Given the description of an element on the screen output the (x, y) to click on. 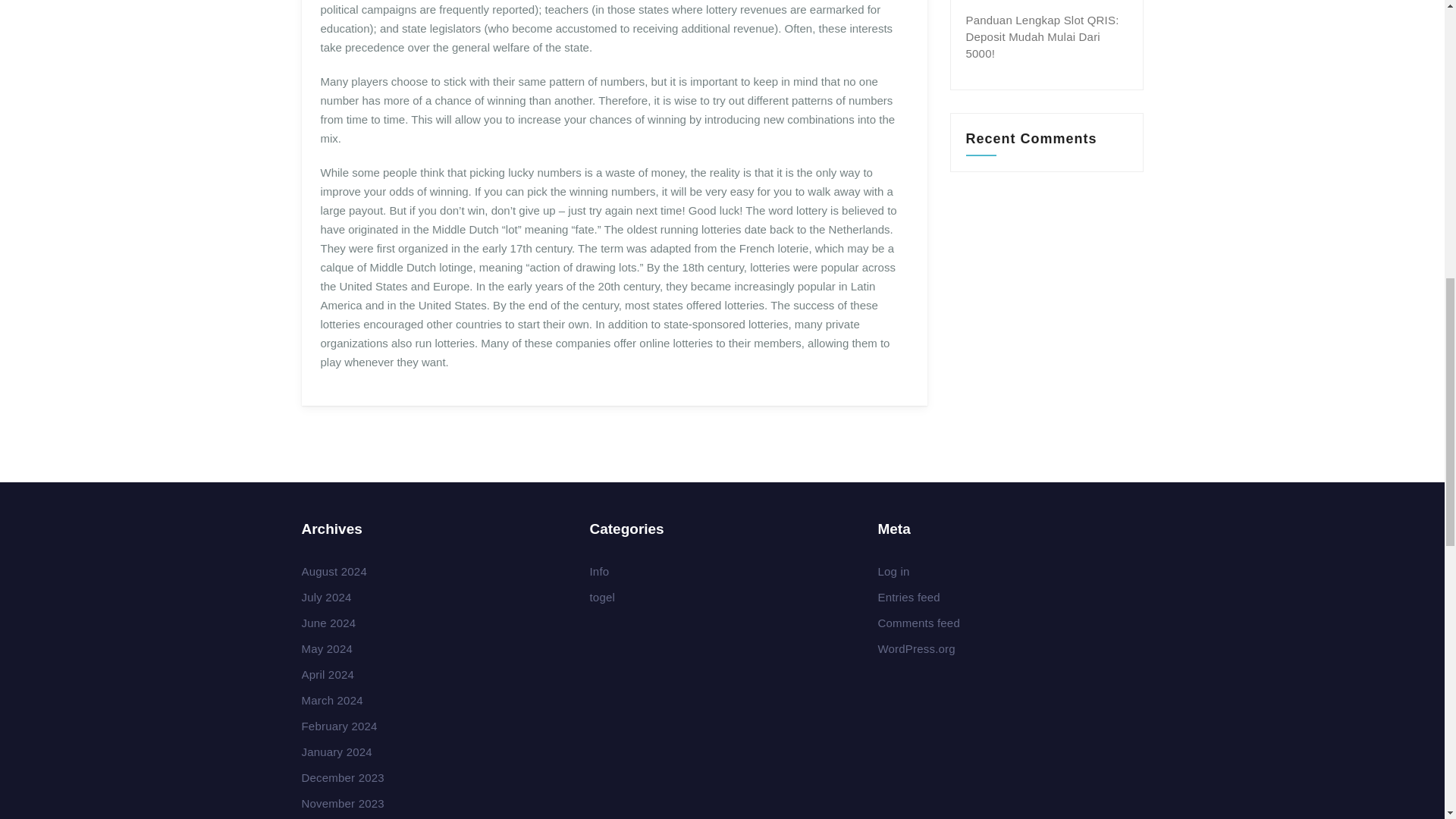
April 2024 (328, 674)
July 2024 (326, 596)
March 2024 (331, 699)
June 2024 (328, 622)
May 2024 (326, 648)
Panduan Lengkap Slot QRIS: Deposit Mudah Mulai Dari 5000! (1042, 36)
August 2024 (333, 571)
